Given the description of an element on the screen output the (x, y) to click on. 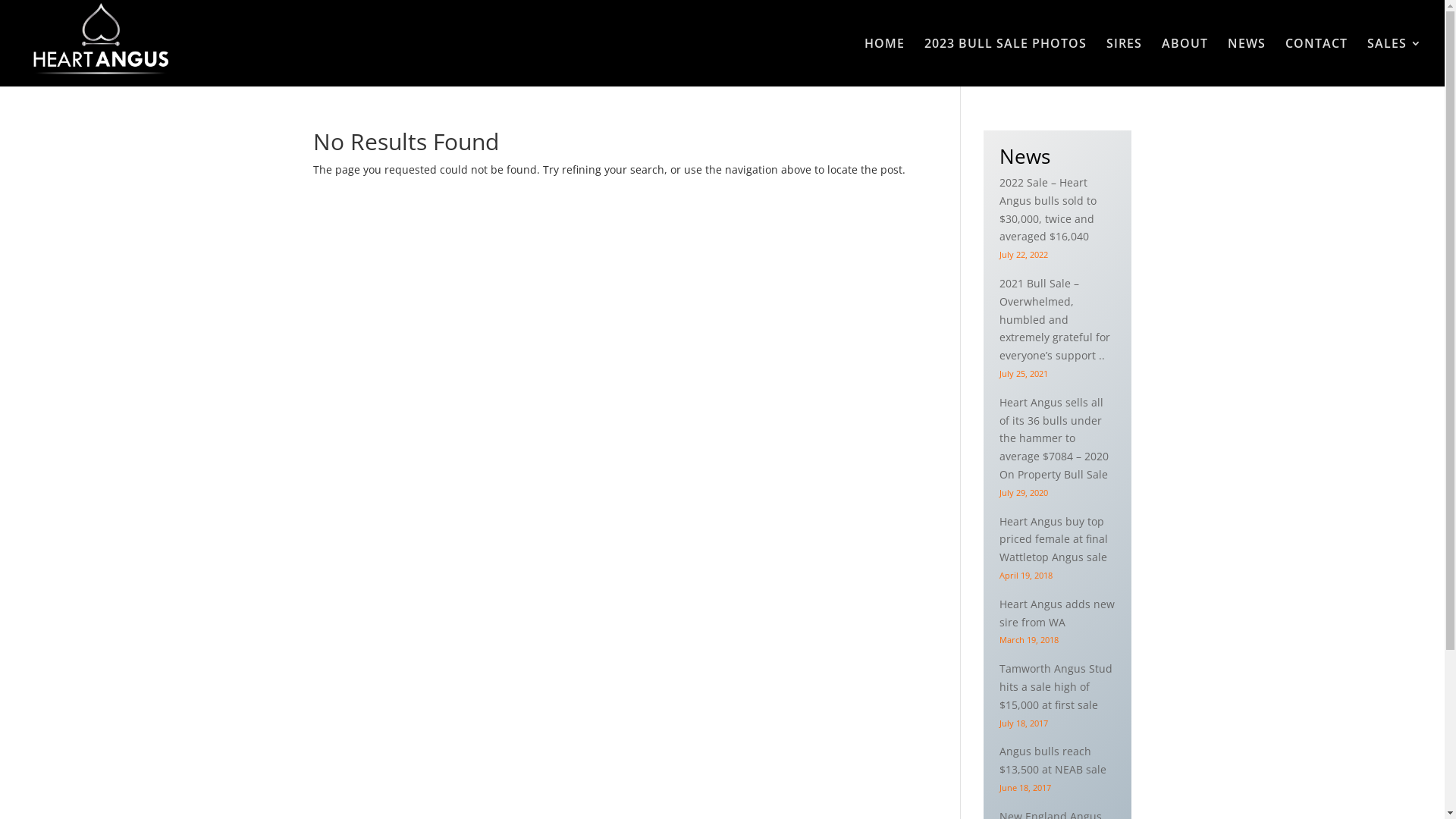
ABOUT Element type: text (1184, 61)
SIRES Element type: text (1124, 61)
2023 BULL SALE PHOTOS Element type: text (1005, 61)
CONTACT Element type: text (1316, 61)
Angus bulls reach $13,500 at NEAB sale Element type: text (1052, 759)
SALES Element type: text (1394, 61)
Heart Angus adds new sire from WA Element type: text (1056, 612)
HOME Element type: text (884, 61)
NEWS Element type: text (1246, 61)
